Given the description of an element on the screen output the (x, y) to click on. 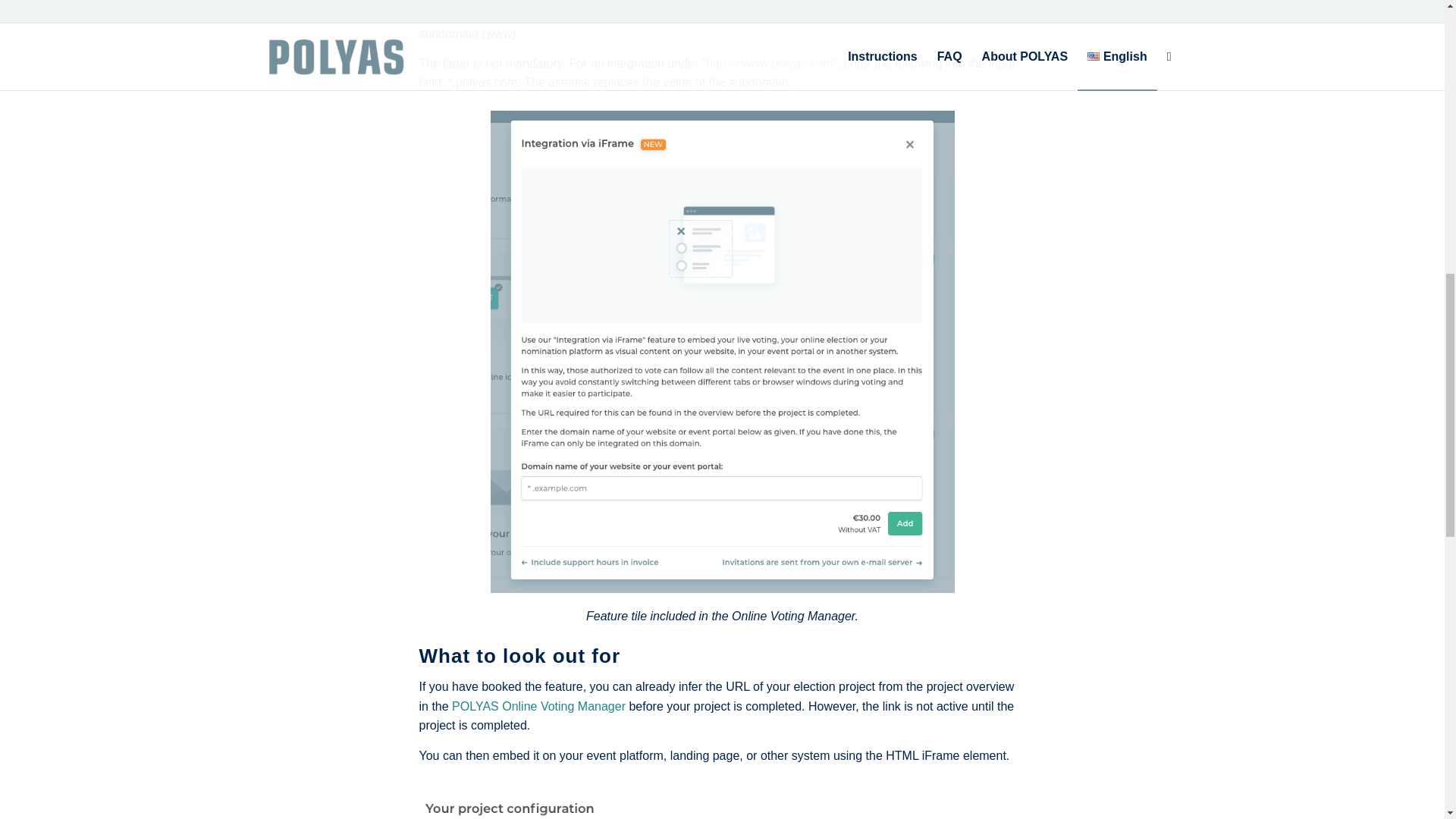
POLYAS Online Voting Manager (538, 706)
